Given the description of an element on the screen output the (x, y) to click on. 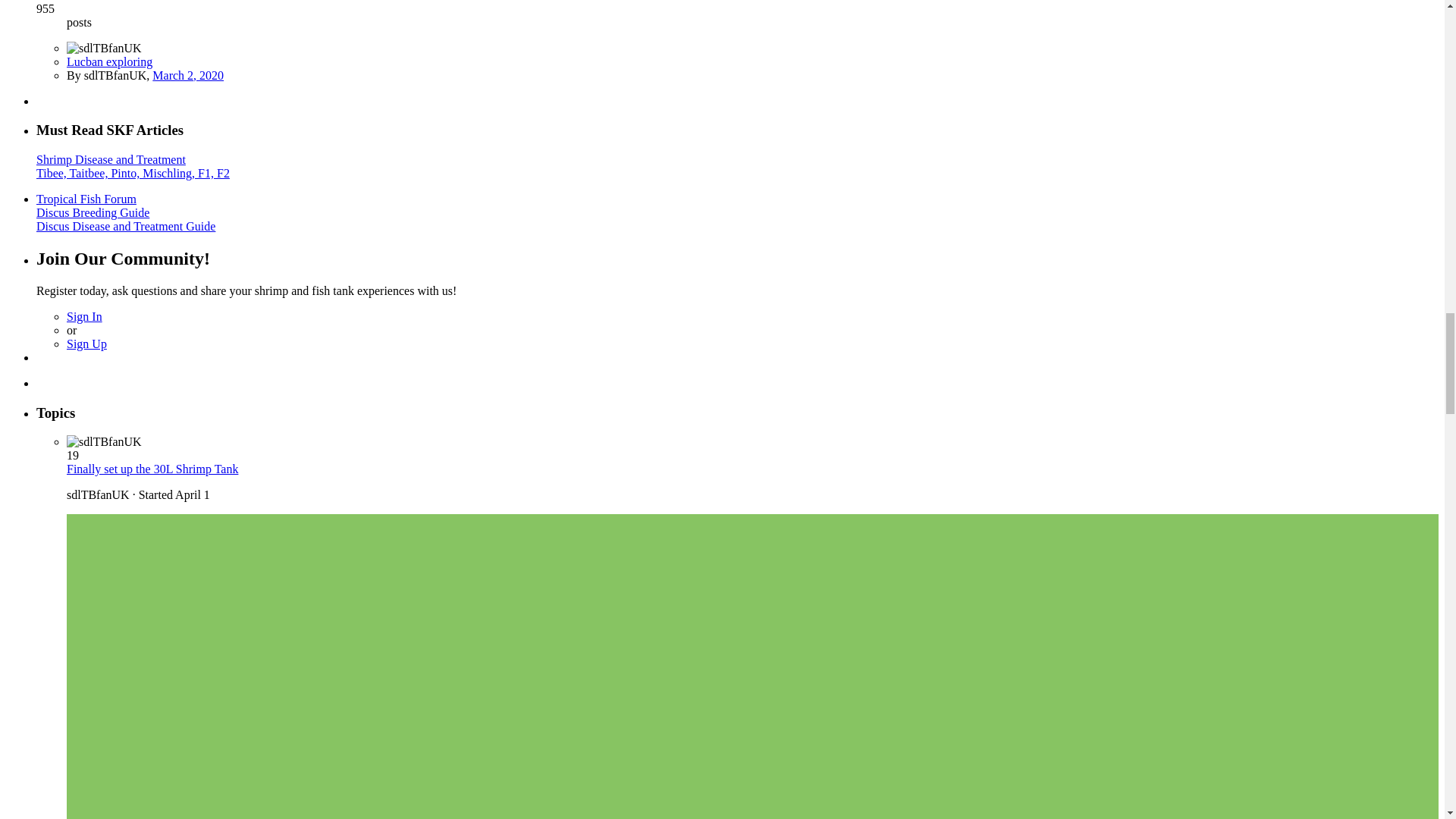
View the topic Finally set up the 30L Shrimp Tank (152, 468)
Tropical Fish Forum (86, 198)
discus breeding guide (92, 212)
Tibee, Taitbee, Pinto, Mischling, F1, F2 (133, 173)
Shrimp Disease and Treatment (111, 159)
Discus Breeding Guide (92, 212)
March 2, 2020 (188, 74)
Go to last post (188, 74)
discus diseases (125, 226)
Discus Disease and Treatment Guide (125, 226)
